Given the description of an element on the screen output the (x, y) to click on. 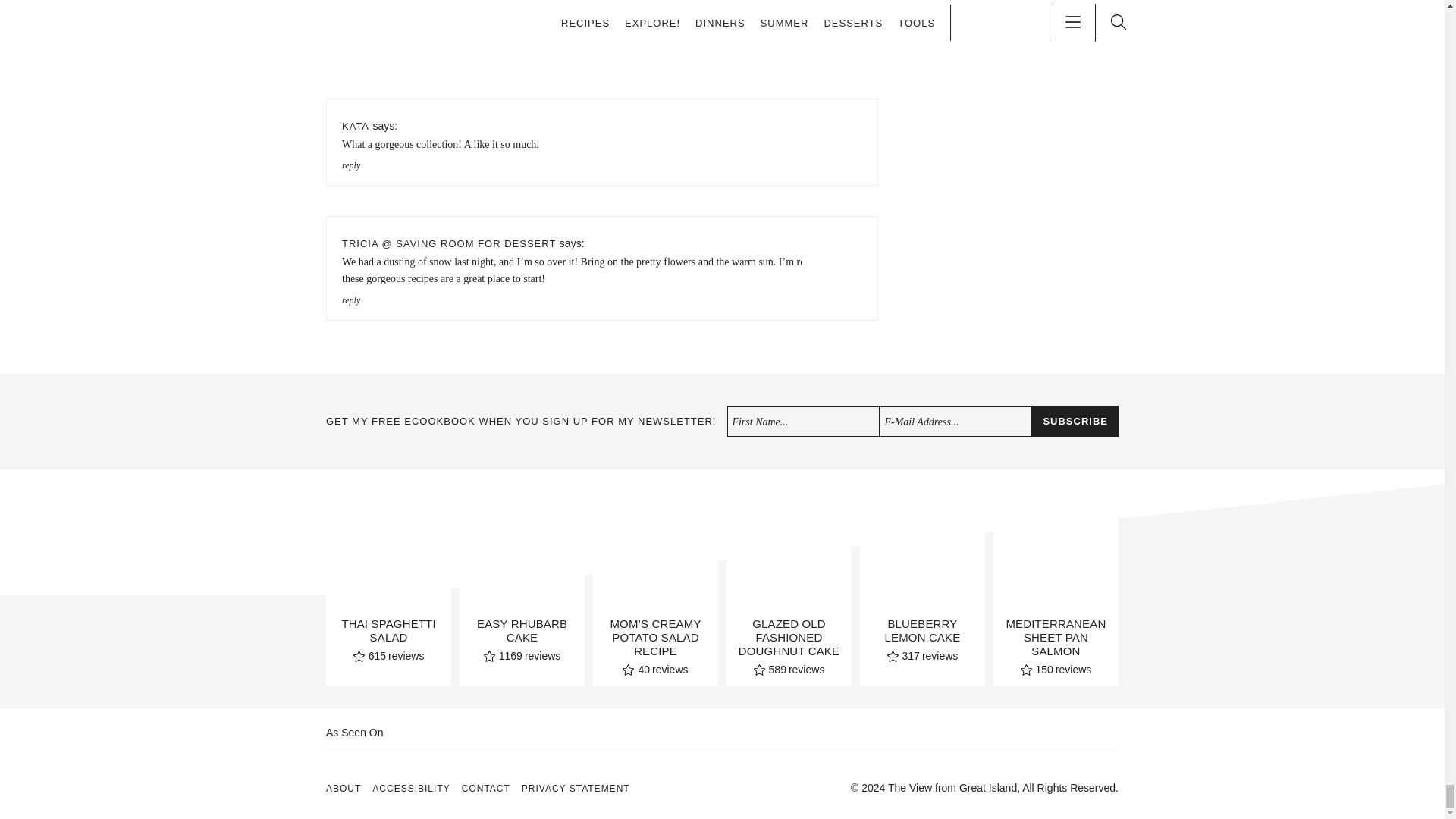
Subscribe (1075, 420)
